Given the description of an element on the screen output the (x, y) to click on. 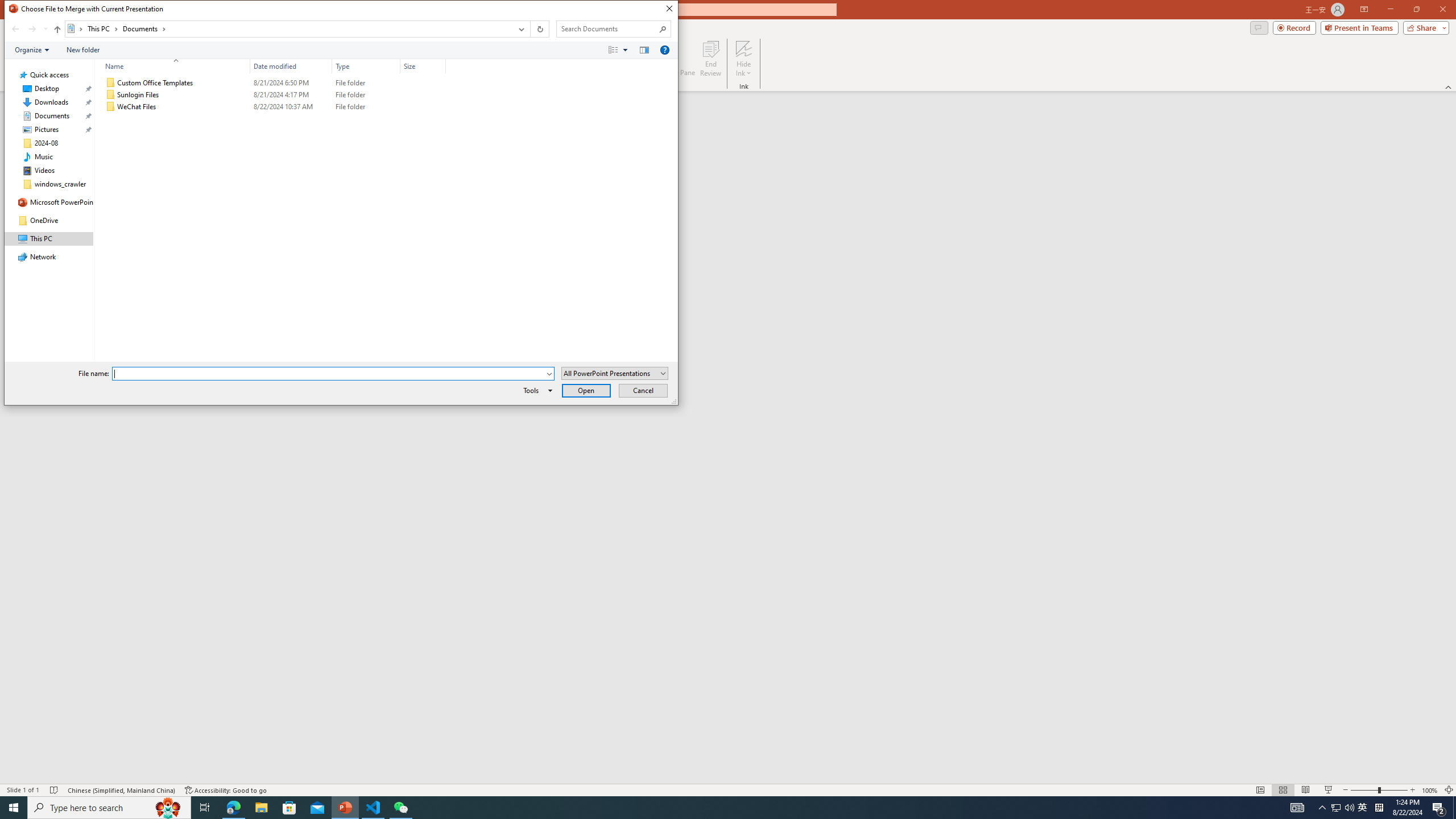
Tools (535, 390)
